Given the description of an element on the screen output the (x, y) to click on. 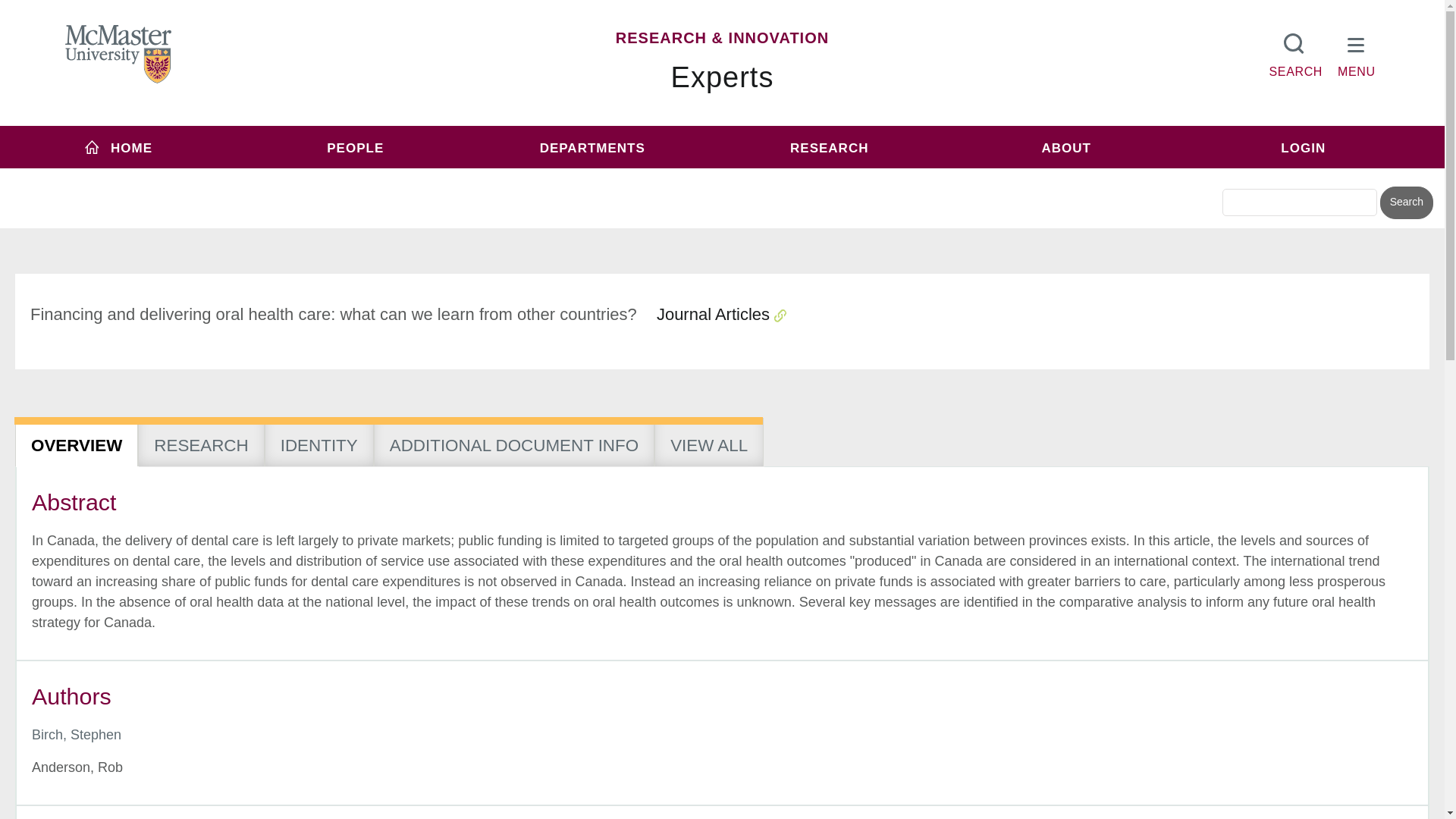
SEARCH (1295, 51)
McMaster Univeristy Logo (118, 54)
Experts (722, 77)
Research menu item (829, 147)
People menu item (355, 147)
Departments menu item (592, 147)
Search (1406, 202)
inurl:experts.mcmaster.ca (601, 175)
inurl:mcmaster.ca (829, 175)
Home menu item (118, 147)
About menu item (1066, 147)
MCMASTER LOGO (118, 54)
MENU (1356, 51)
author name (76, 734)
